Given the description of an element on the screen output the (x, y) to click on. 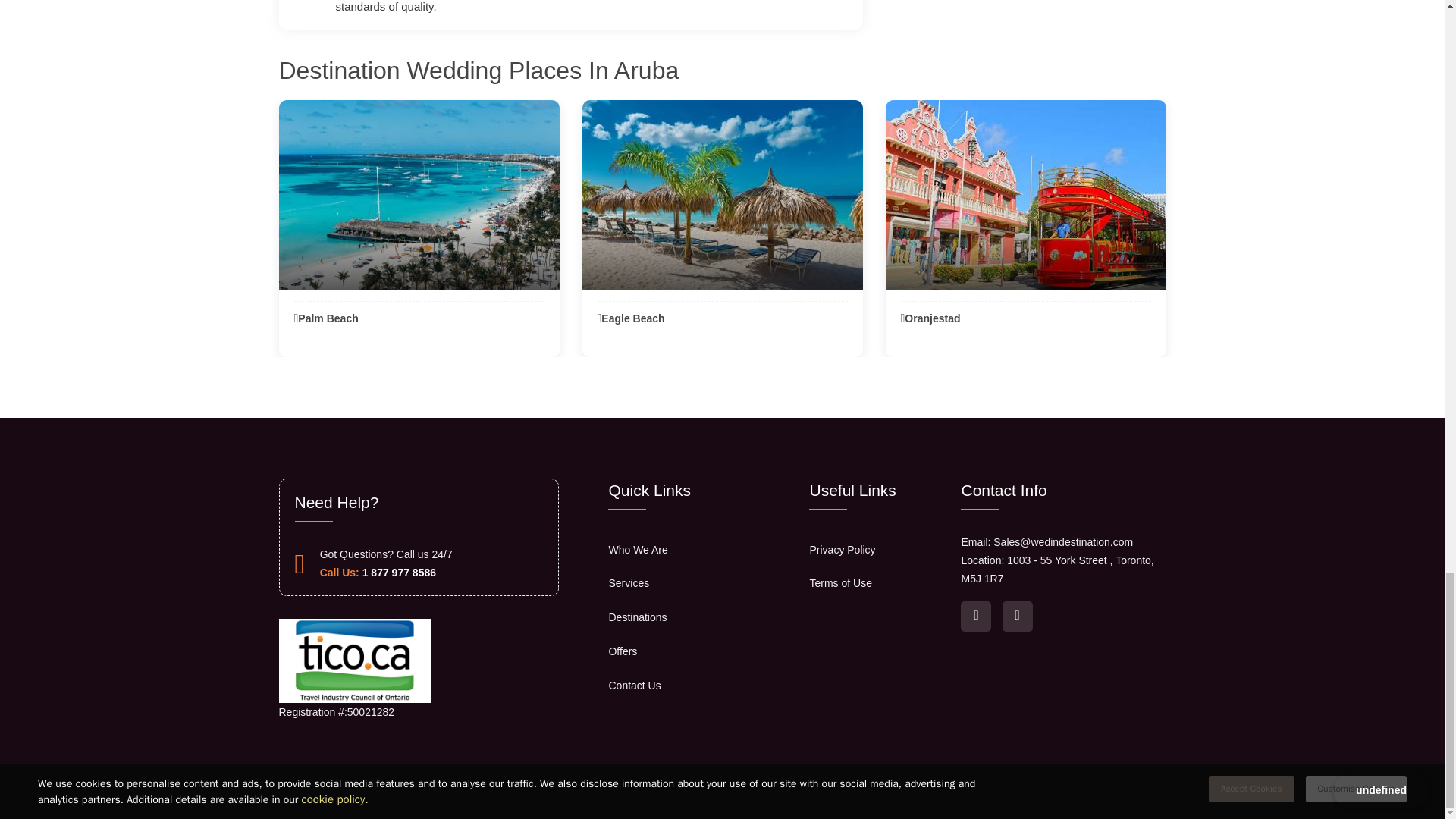
Eagle Beach (630, 318)
1 877 977 8586 (398, 572)
Palm Beach (326, 318)
Who We Are (637, 549)
Destinations (637, 616)
Contact Us (634, 685)
Oranjestad (930, 318)
Offers (622, 651)
Privacy Policy (842, 549)
Services (628, 582)
